Given the description of an element on the screen output the (x, y) to click on. 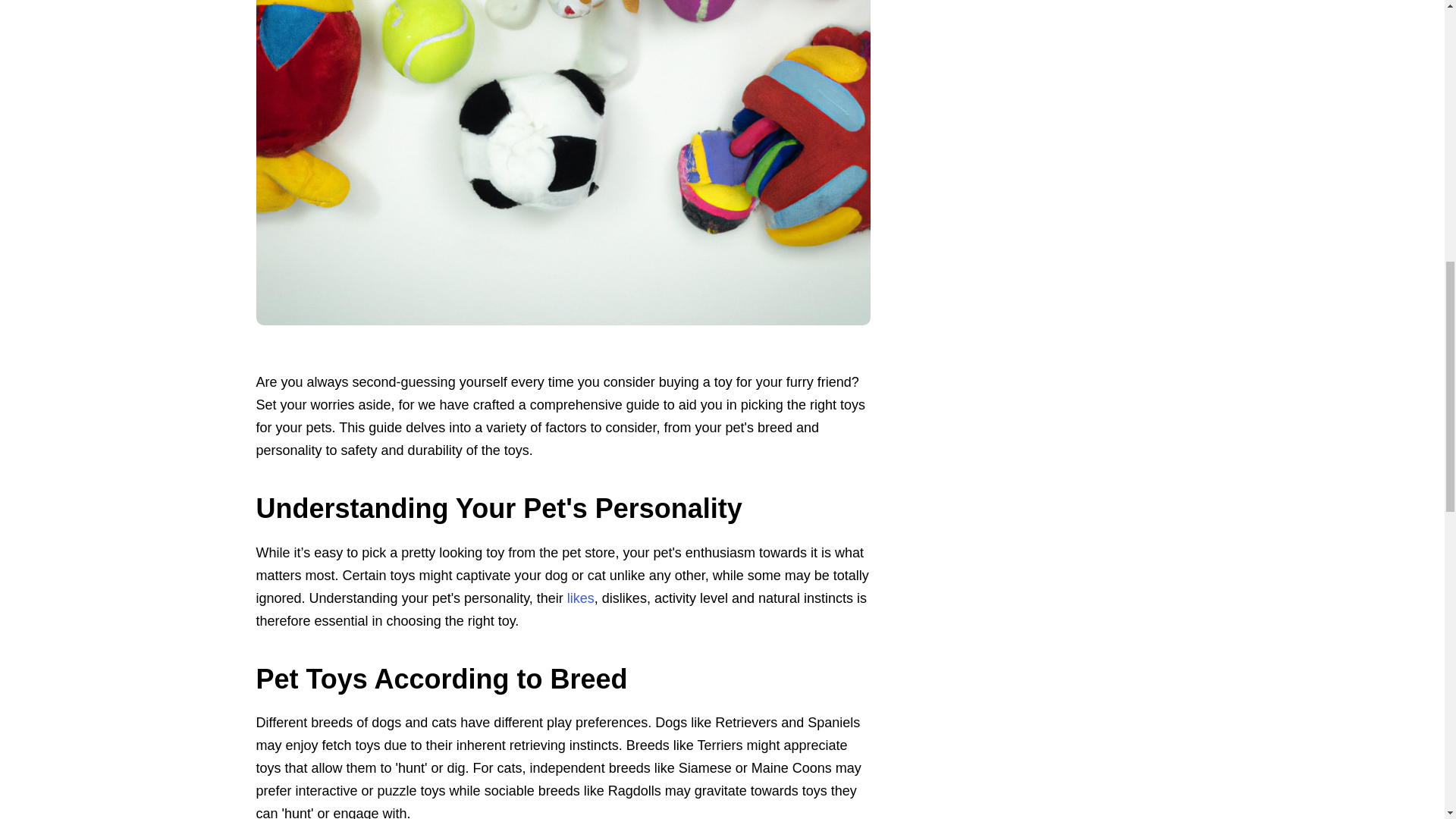
likes (580, 598)
likes (580, 598)
